Given the description of an element on the screen output the (x, y) to click on. 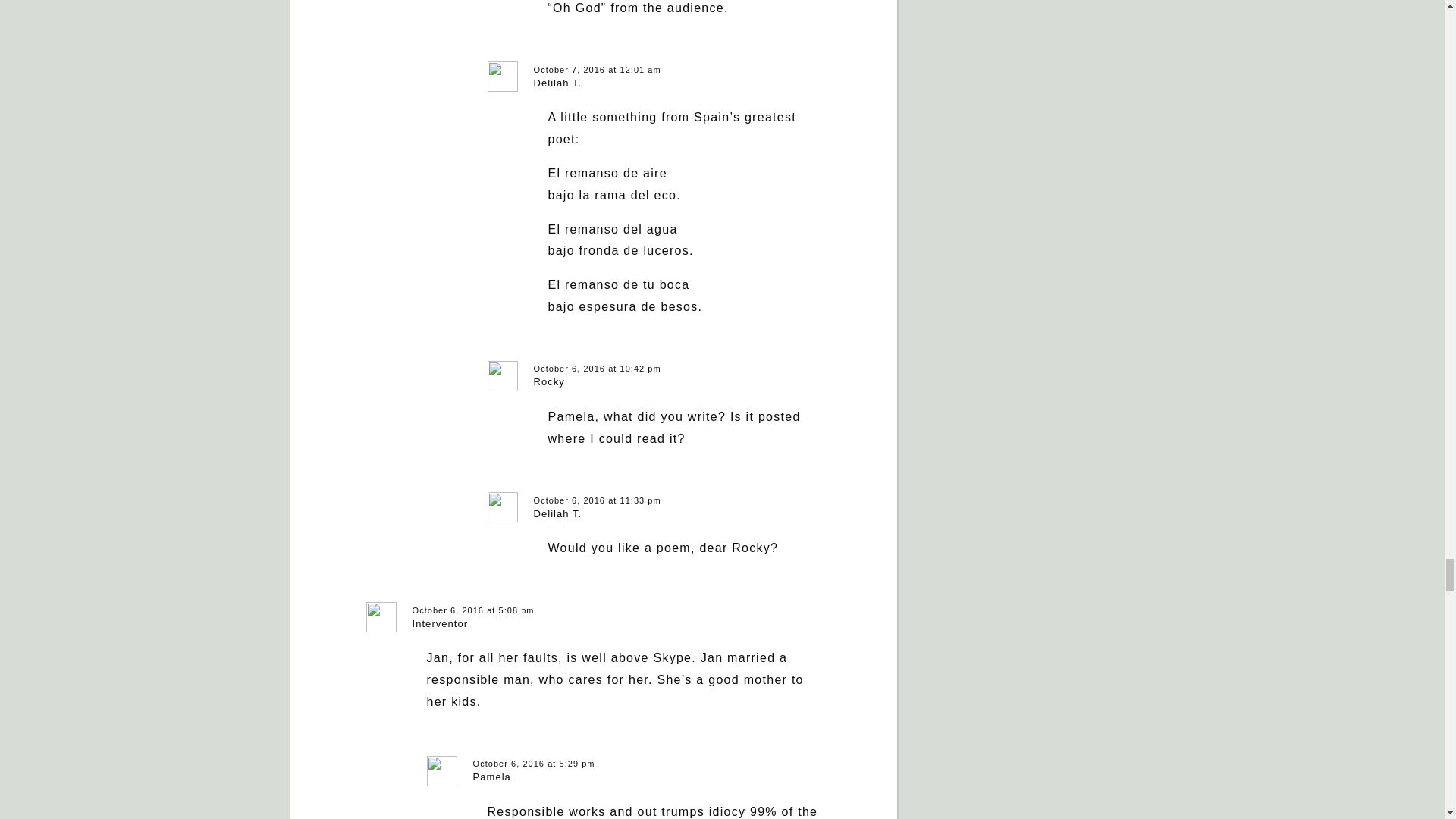
Delilah T. (558, 82)
Delilah T. (558, 513)
